Given the description of an element on the screen output the (x, y) to click on. 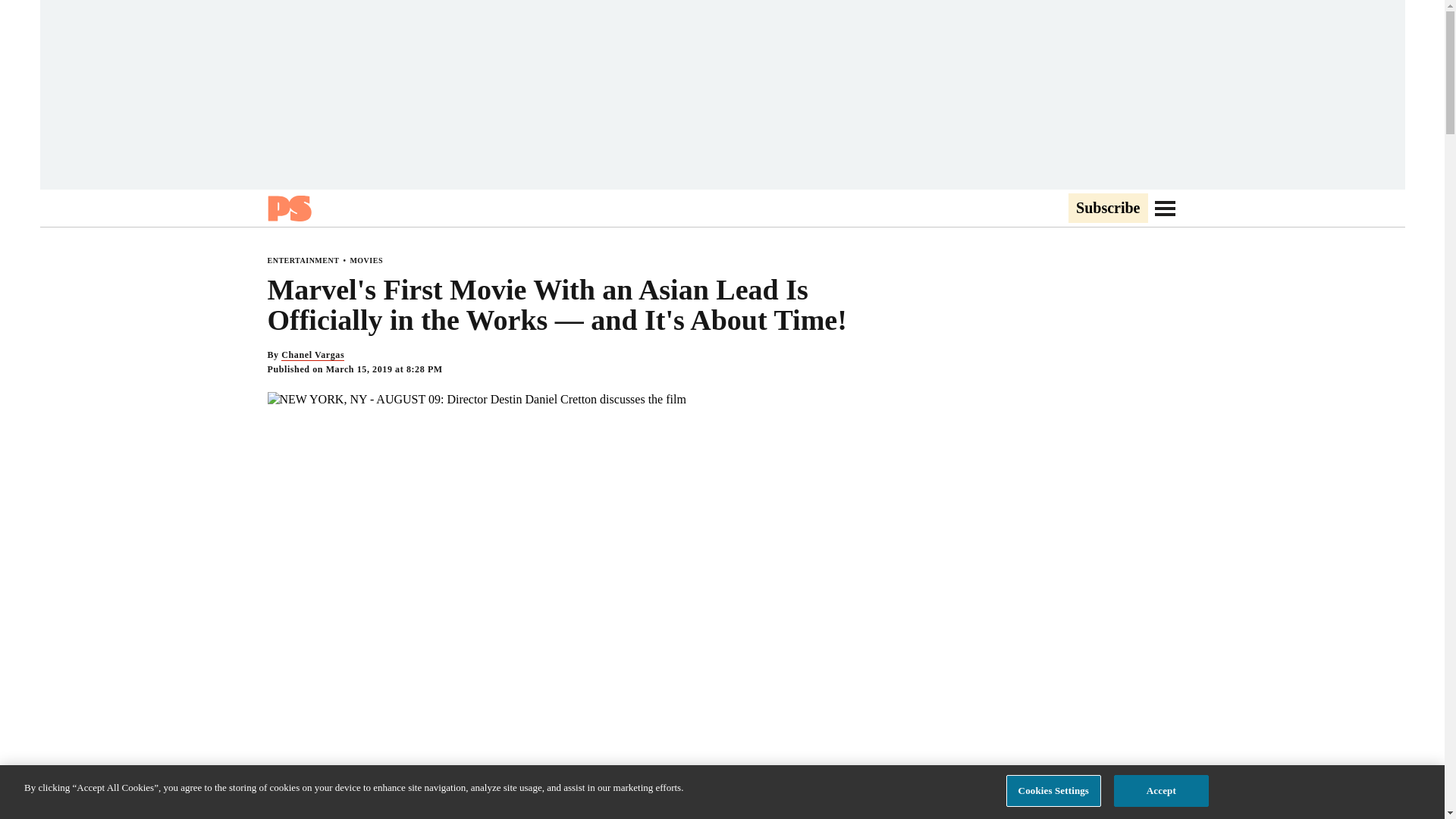
Go to Navigation (1164, 207)
Go to Navigation (1164, 207)
Chanel Vargas (312, 355)
Popsugar (288, 208)
MOVIES (365, 260)
Subscribe (1107, 208)
ENTERTAINMENT (302, 260)
